Given the description of an element on the screen output the (x, y) to click on. 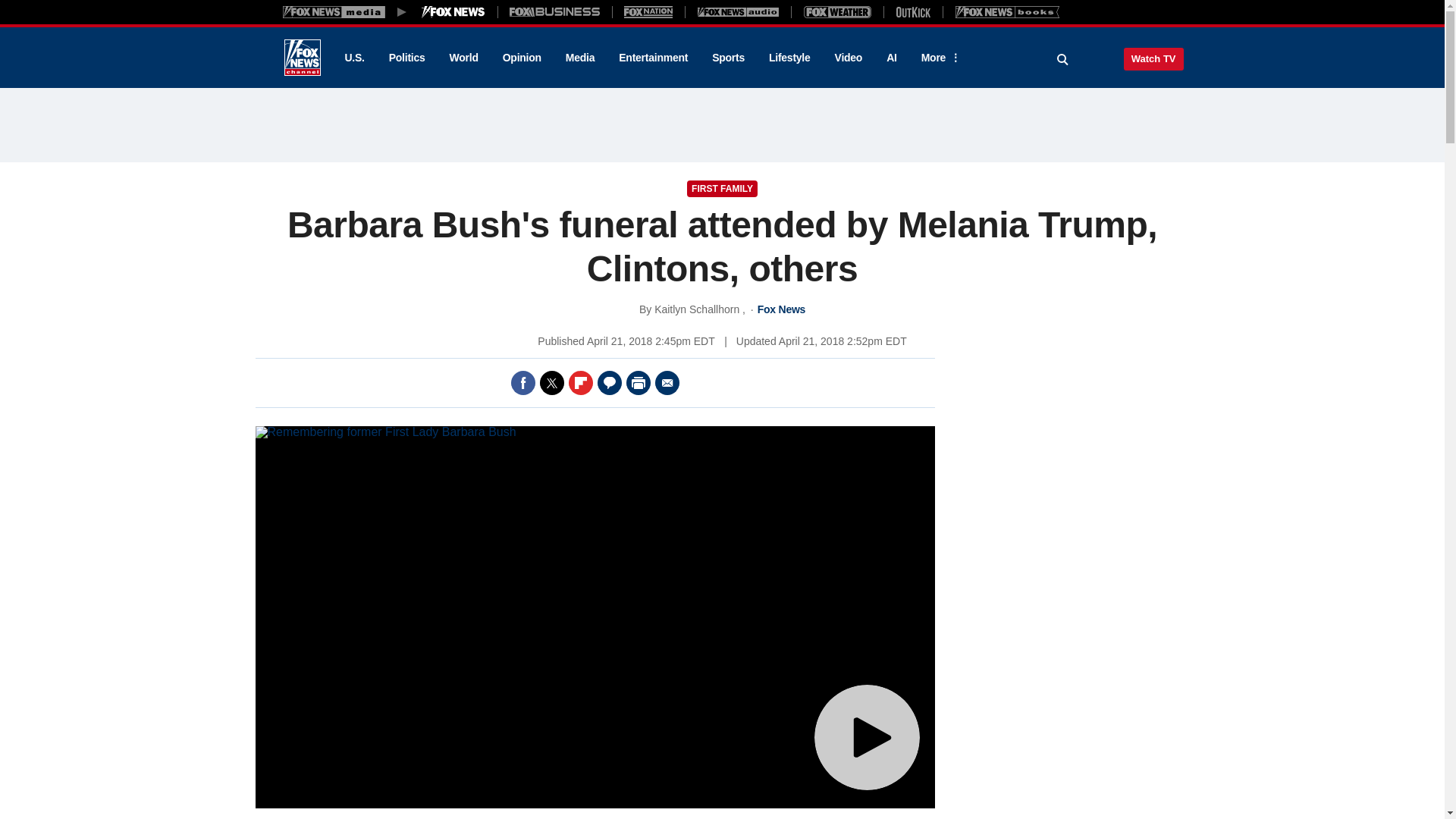
More (938, 57)
Entertainment (653, 57)
Sports (728, 57)
Opinion (521, 57)
Fox Nation (648, 11)
Books (1007, 11)
Outkick (912, 11)
U.S. (353, 57)
Watch TV (1153, 58)
Politics (407, 57)
World (464, 57)
Lifestyle (789, 57)
Fox News Media (453, 11)
Fox Business (554, 11)
Fox Weather (836, 11)
